Given the description of an element on the screen output the (x, y) to click on. 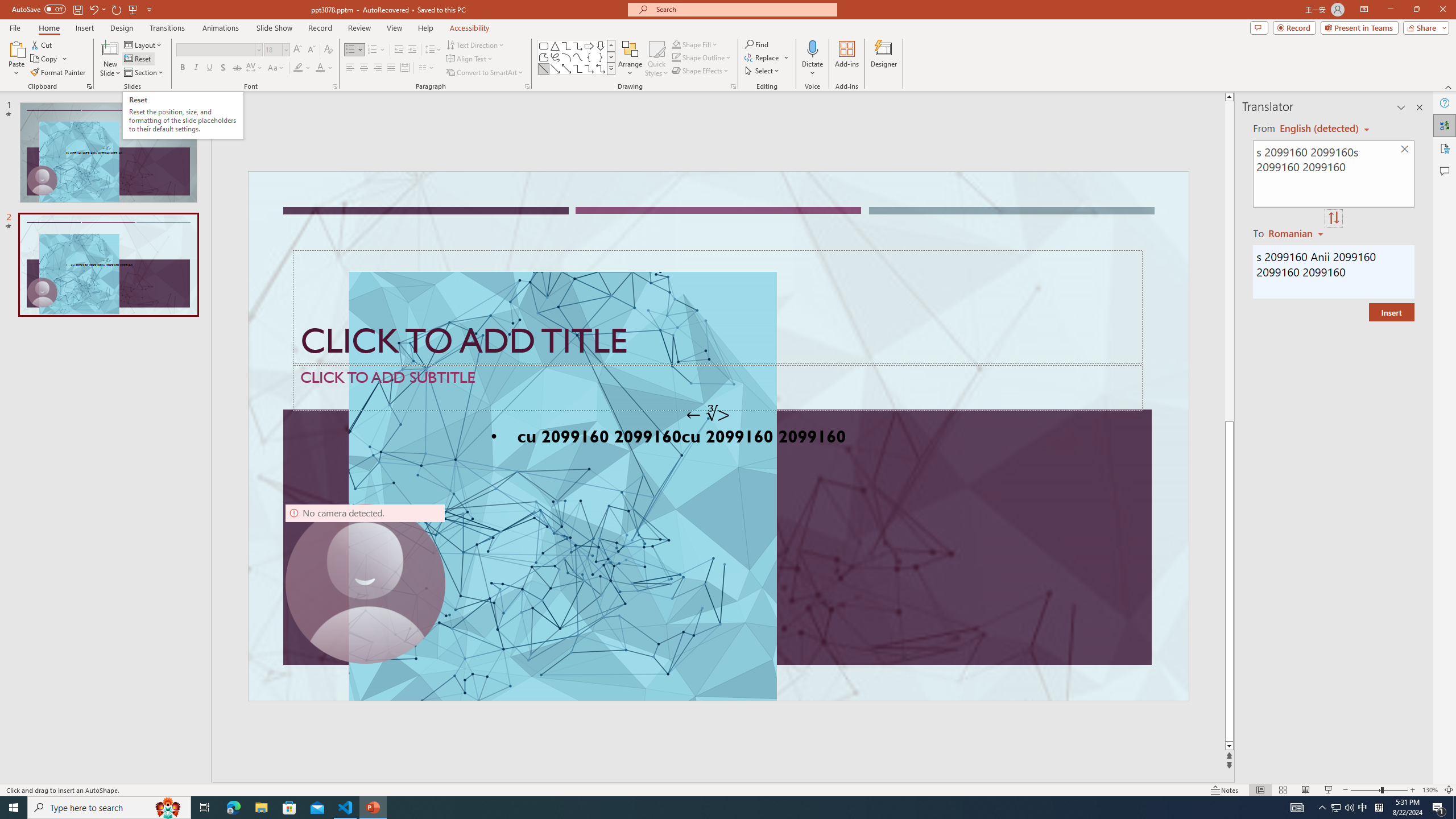
Replace... (762, 56)
Paste (16, 58)
Character Spacing (254, 67)
Dictate (812, 58)
Shape Fill (694, 44)
Text Direction (476, 44)
Curve (577, 57)
Columns (426, 67)
Row Down (611, 56)
